Given the description of an element on the screen output the (x, y) to click on. 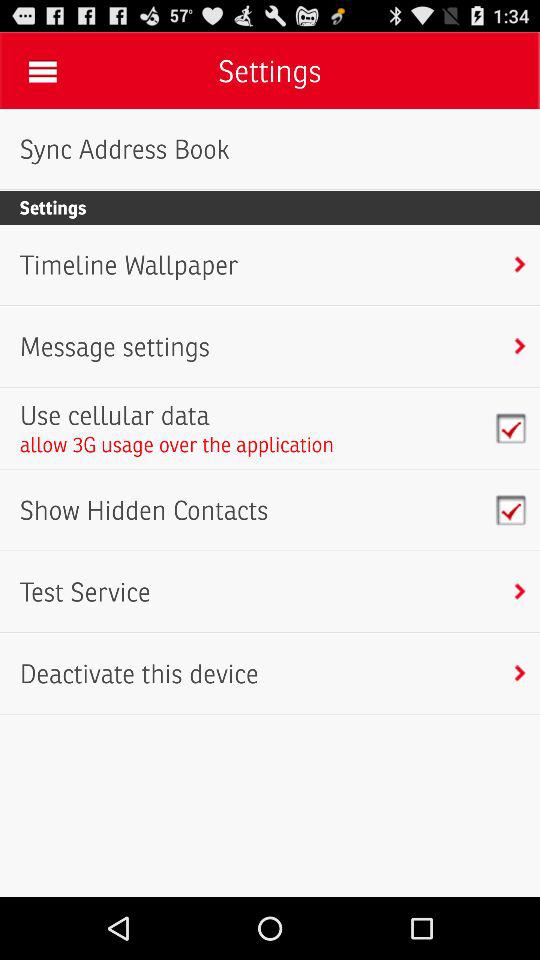
scroll until the use cellular data (176, 415)
